Given the description of an element on the screen output the (x, y) to click on. 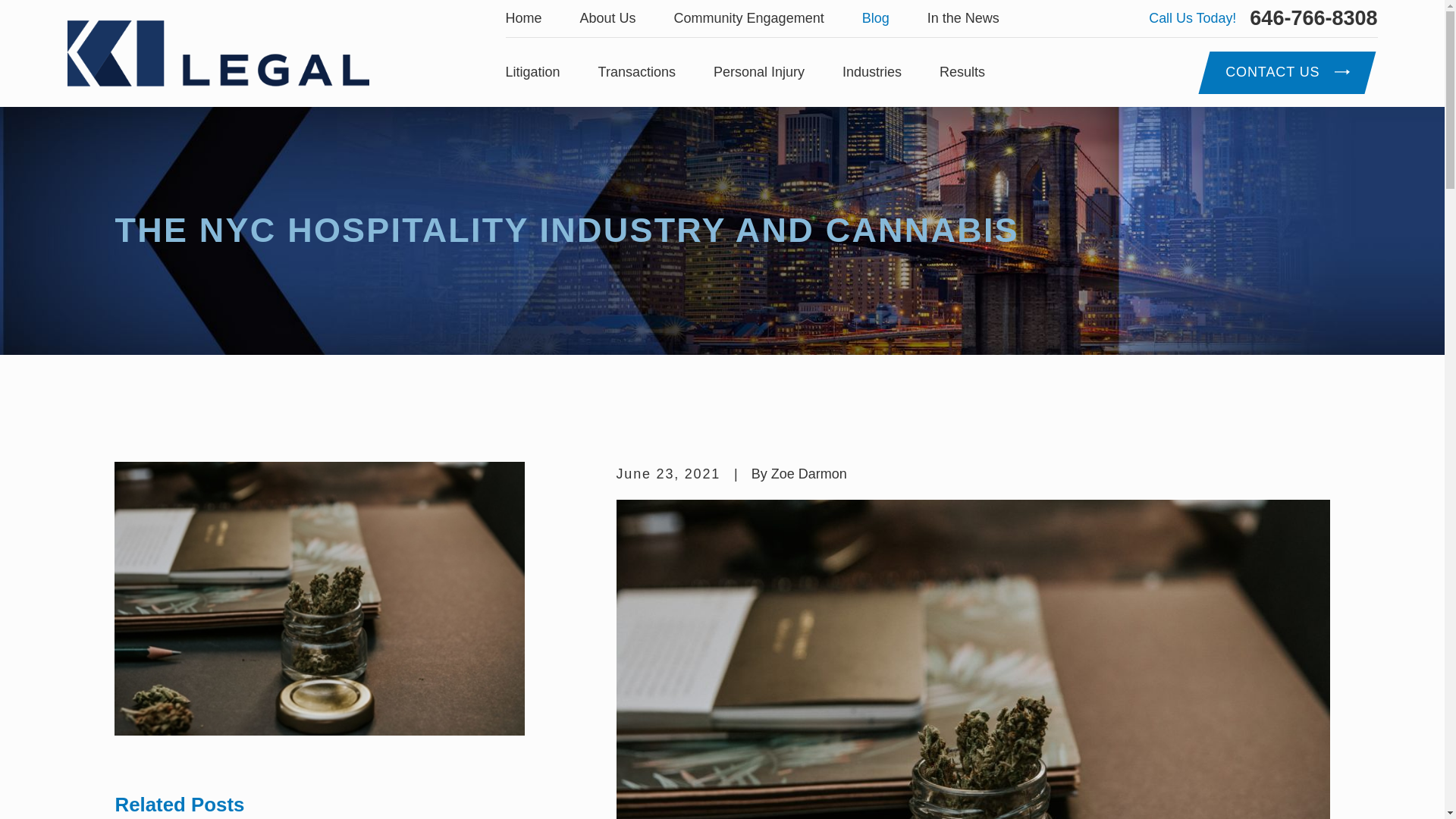
Industries (872, 72)
About Us (607, 17)
Transactions (636, 72)
Results (962, 72)
Home (523, 17)
Community Engagement (749, 17)
646-766-8308 (1313, 18)
Litigation (532, 72)
Personal Injury (759, 72)
Home (217, 52)
